Given the description of an element on the screen output the (x, y) to click on. 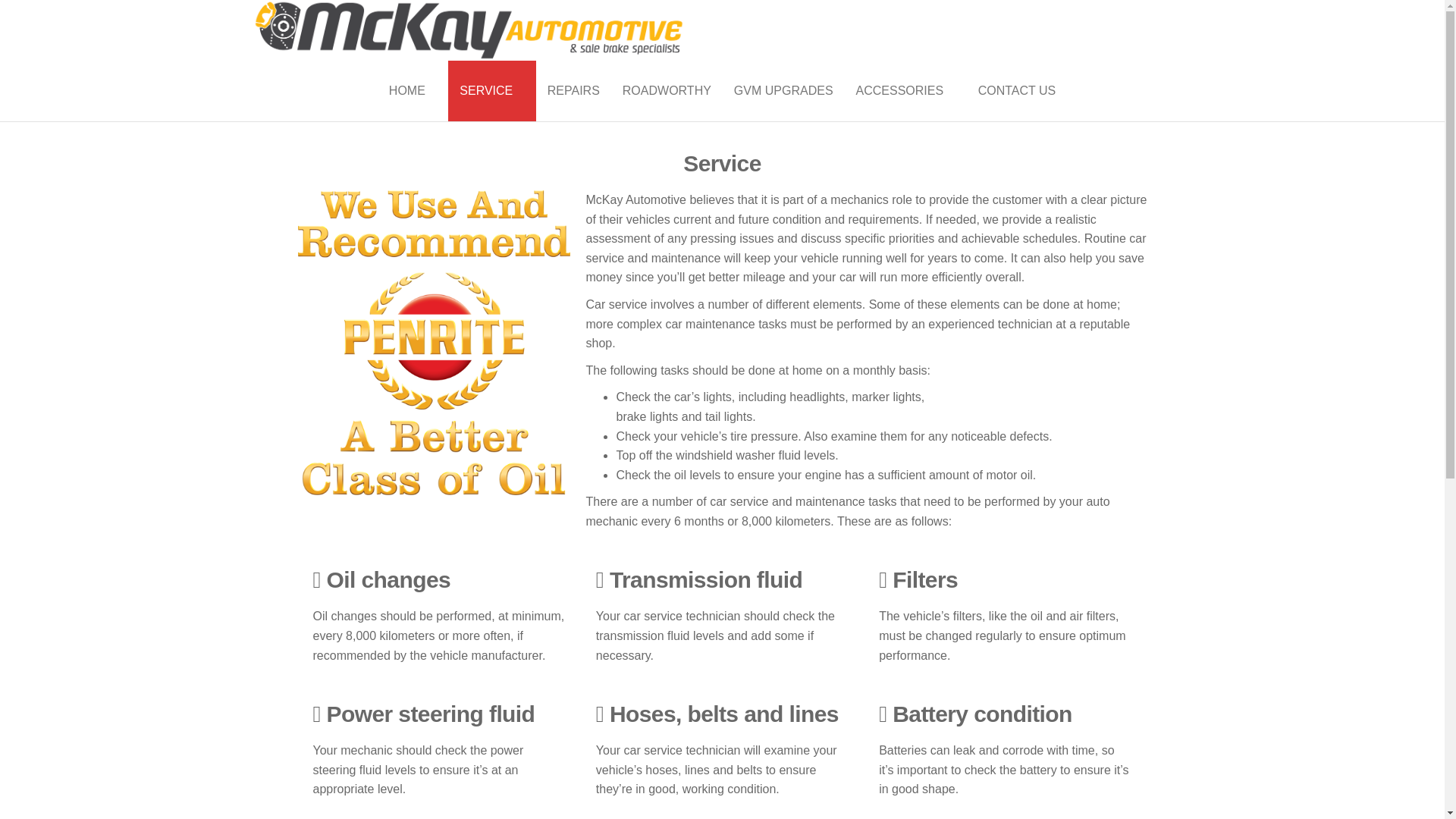
ACCESSORIES Element type: text (905, 90)
McKay Automotive & Sale Brake Specialists Element type: text (752, 94)
ROADWORTHY Element type: text (666, 90)
CONTACT US Element type: text (1016, 90)
SERVICE Element type: text (491, 90)
REPAIRS Element type: text (573, 90)
GVM UPGRADES Element type: text (783, 90)
HOME Element type: text (412, 90)
